Given the description of an element on the screen output the (x, y) to click on. 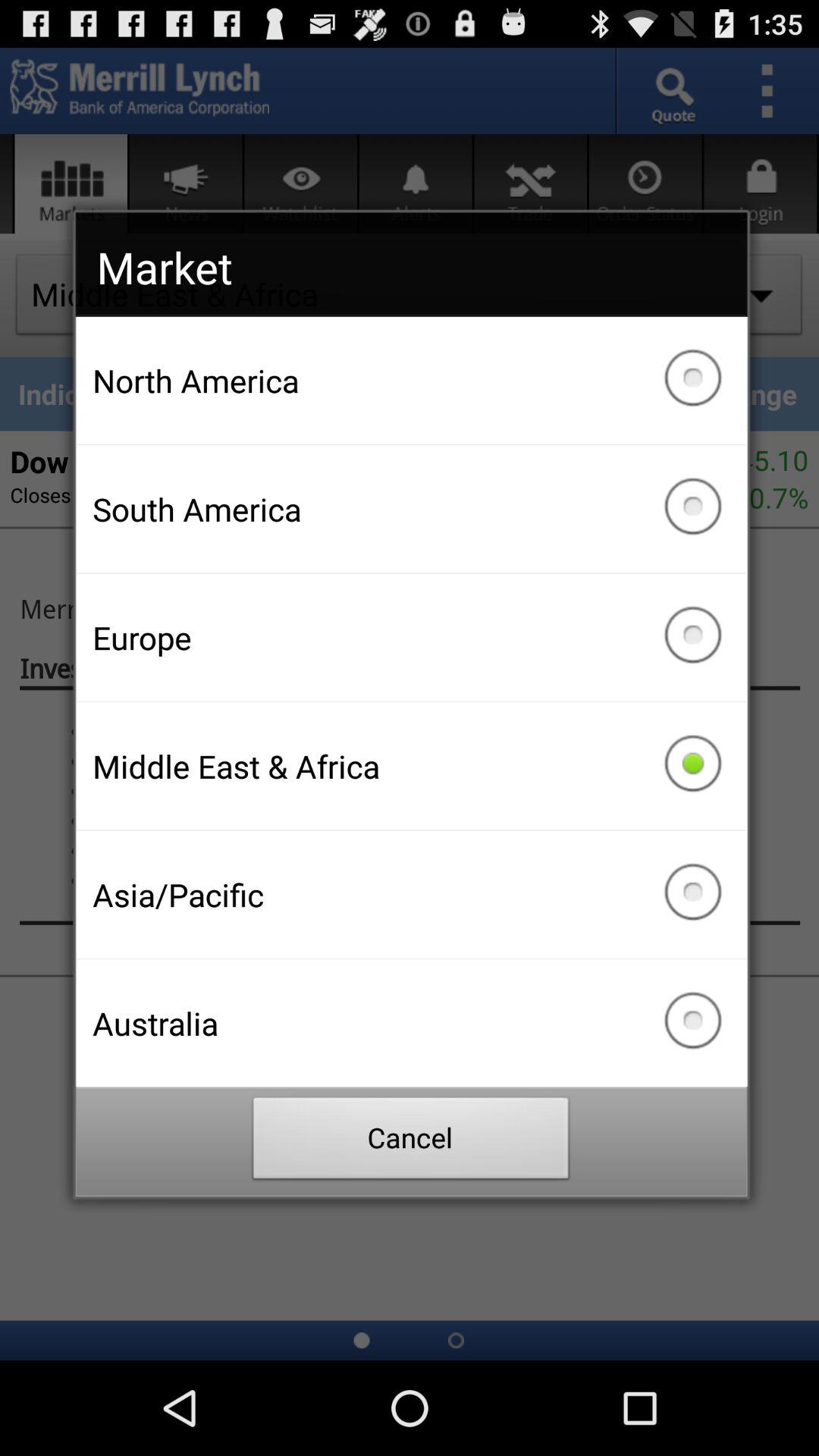
choose cancel (410, 1142)
